Given the description of an element on the screen output the (x, y) to click on. 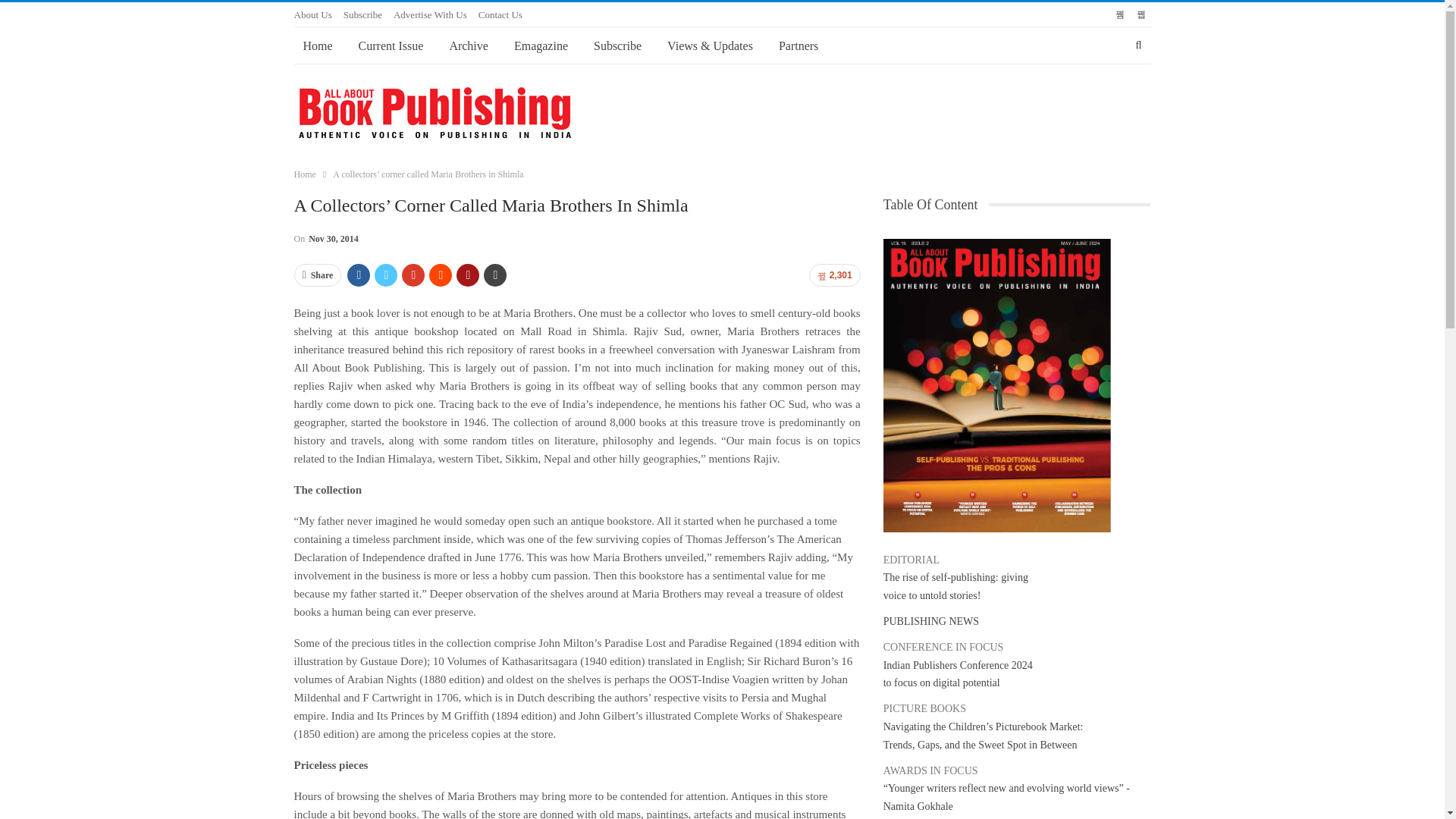
Contact Us (500, 14)
Home (318, 45)
Subscribe (617, 45)
About Us (312, 14)
Subscribe (362, 14)
Current Issue (390, 45)
Archive (468, 45)
Home (304, 174)
Advertise With Us (430, 14)
Emagazine (540, 45)
Partners (798, 45)
